Given the description of an element on the screen output the (x, y) to click on. 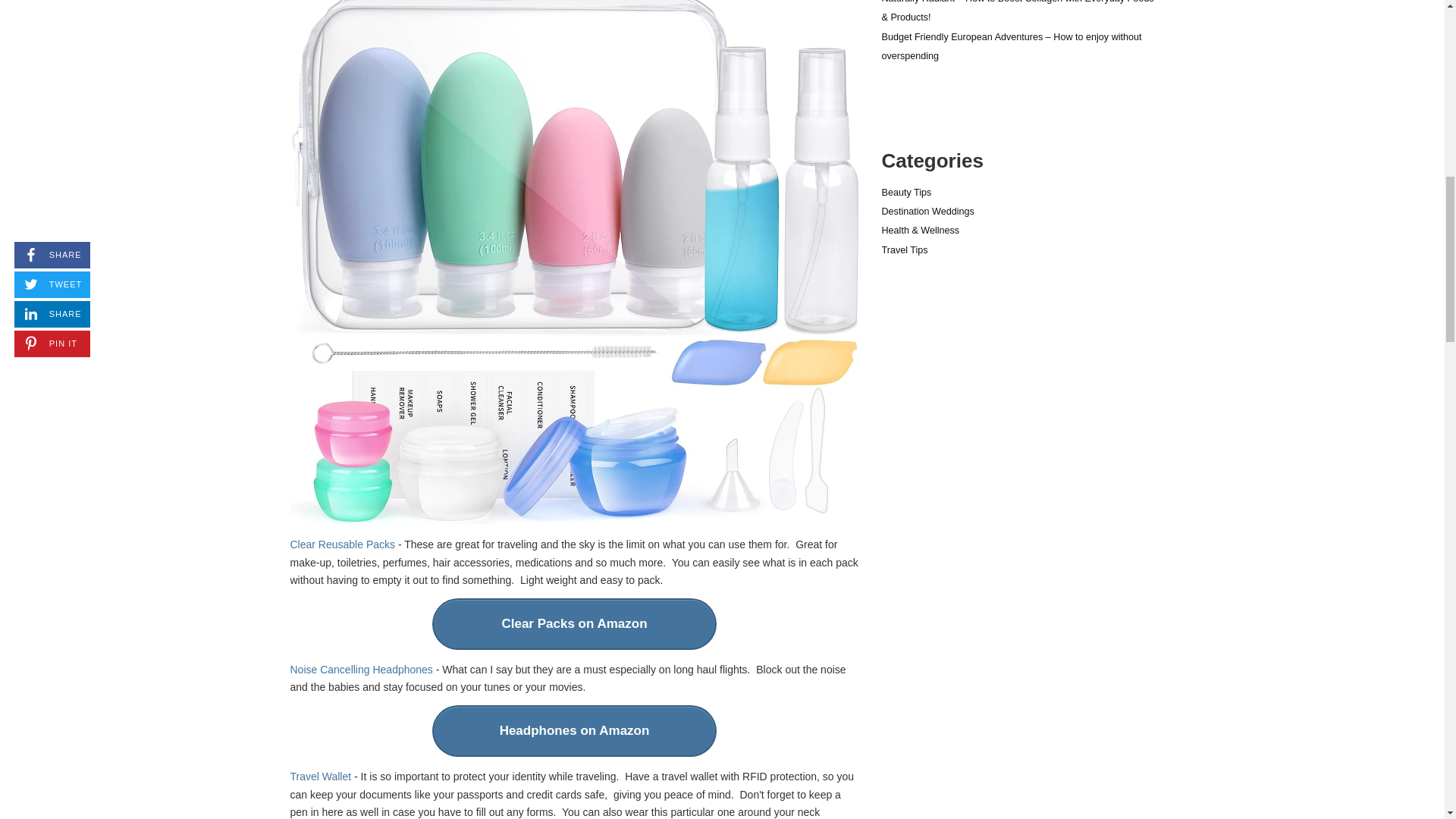
Headphones on Amazon (574, 730)
Clear Packs on Amazon (574, 624)
